Given the description of an element on the screen output the (x, y) to click on. 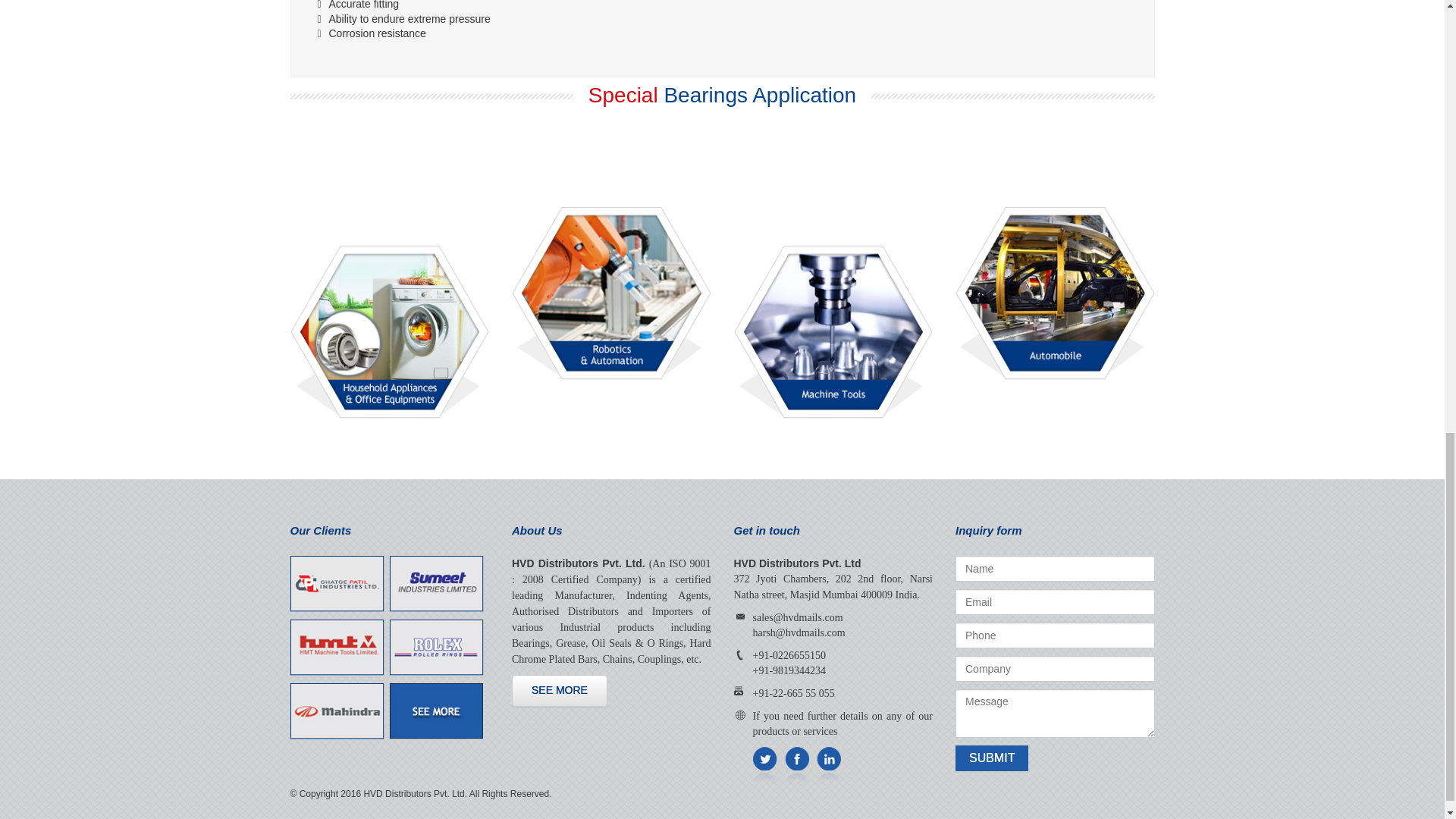
SUBMIT (991, 758)
SEE MORE (559, 690)
SUBMIT (991, 758)
